Given the description of an element on the screen output the (x, y) to click on. 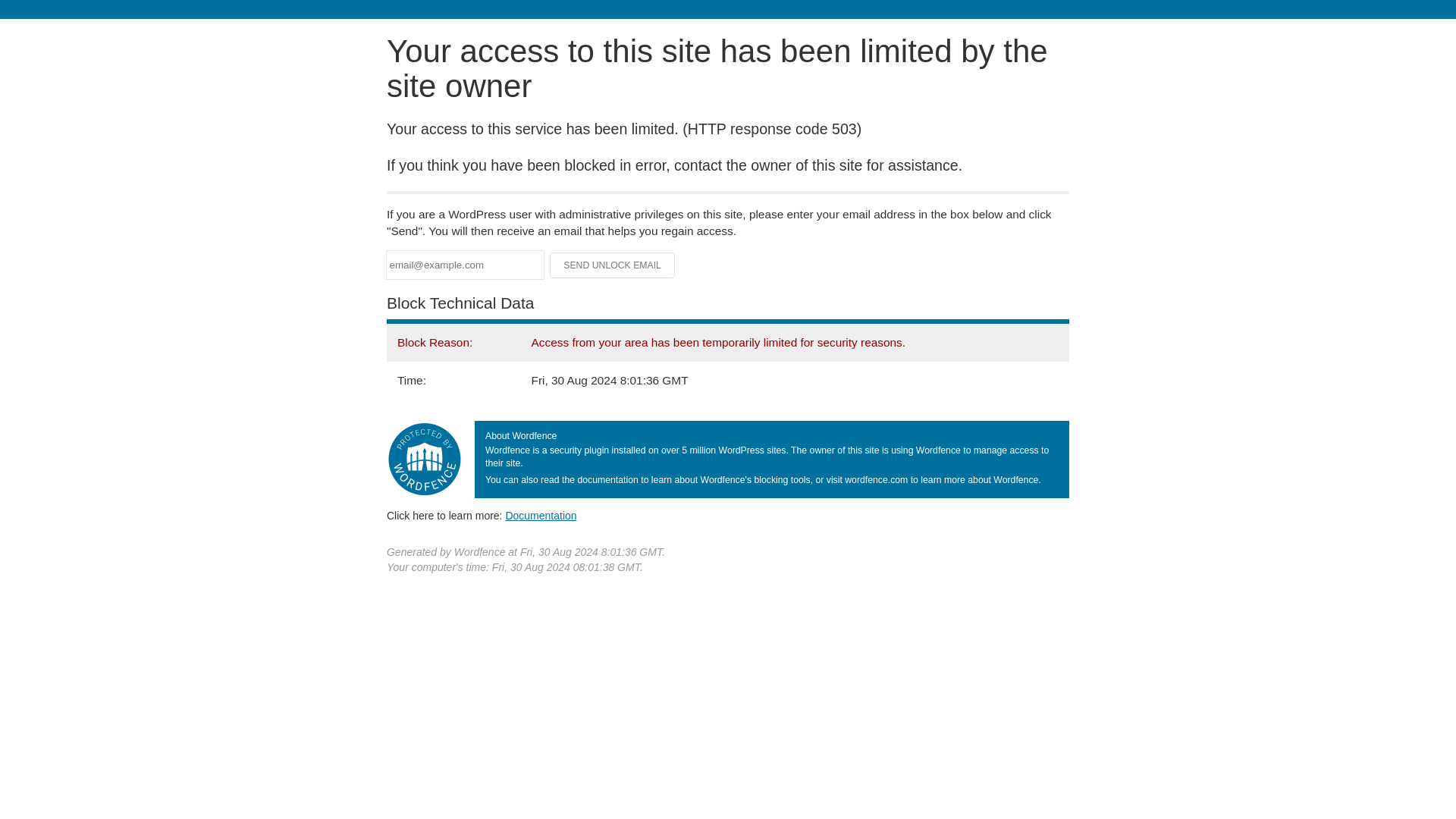
Send Unlock Email (612, 265)
Documentation (540, 515)
Send Unlock Email (612, 265)
